Given the description of an element on the screen output the (x, y) to click on. 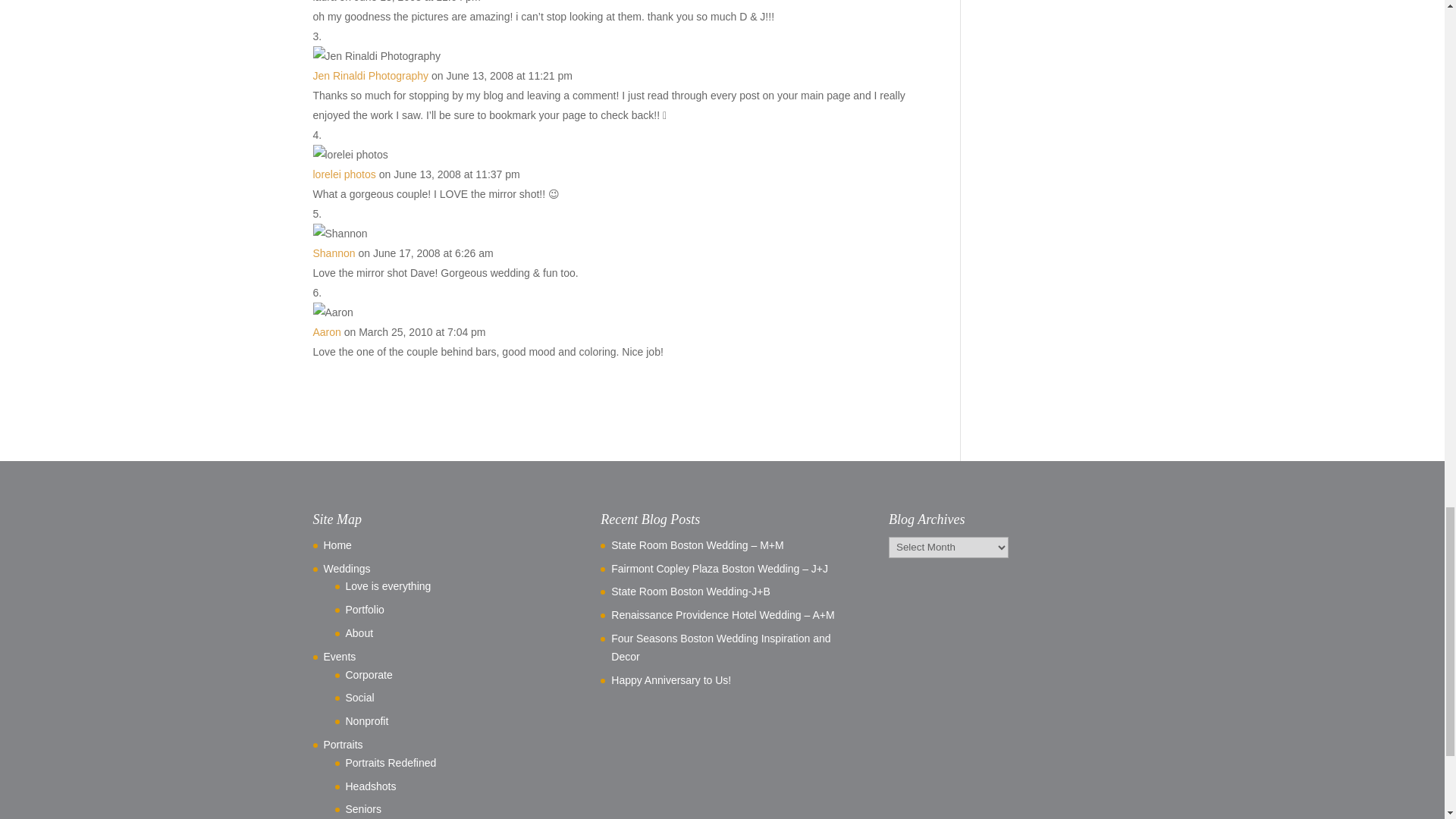
Jen Rinaldi Photography (370, 75)
Aaron (326, 331)
Weddings (346, 568)
Shannon (334, 253)
lorelei photos (344, 174)
Home (336, 544)
